Given the description of an element on the screen output the (x, y) to click on. 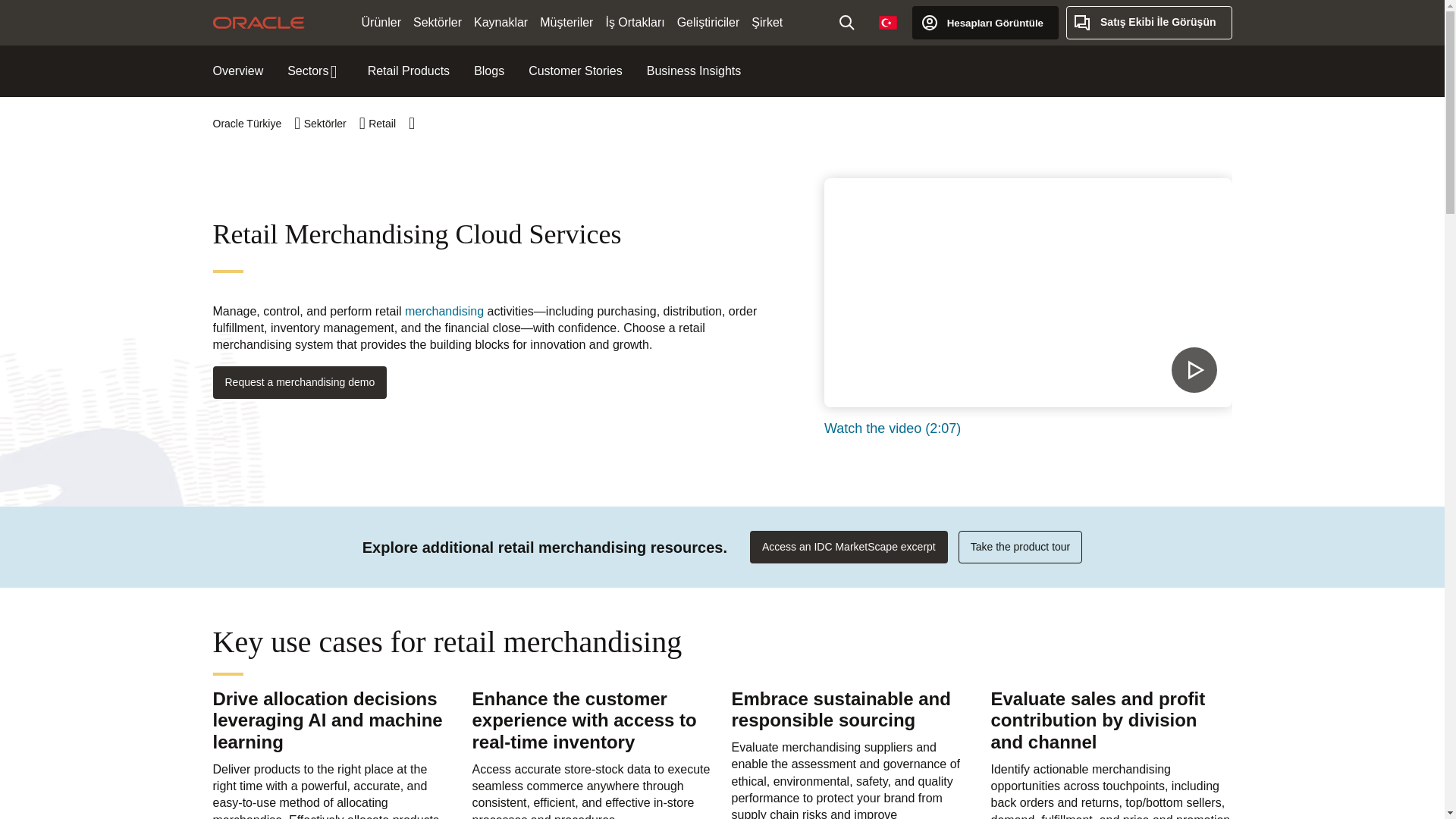
Blogs (488, 71)
Read the excerpt (848, 546)
Watch the Waldo's Dollar Mart video (1027, 292)
Retail Products (408, 71)
Kaynaklar (500, 22)
Request a demo (299, 382)
Country (887, 22)
Overview (237, 71)
